Given the description of an element on the screen output the (x, y) to click on. 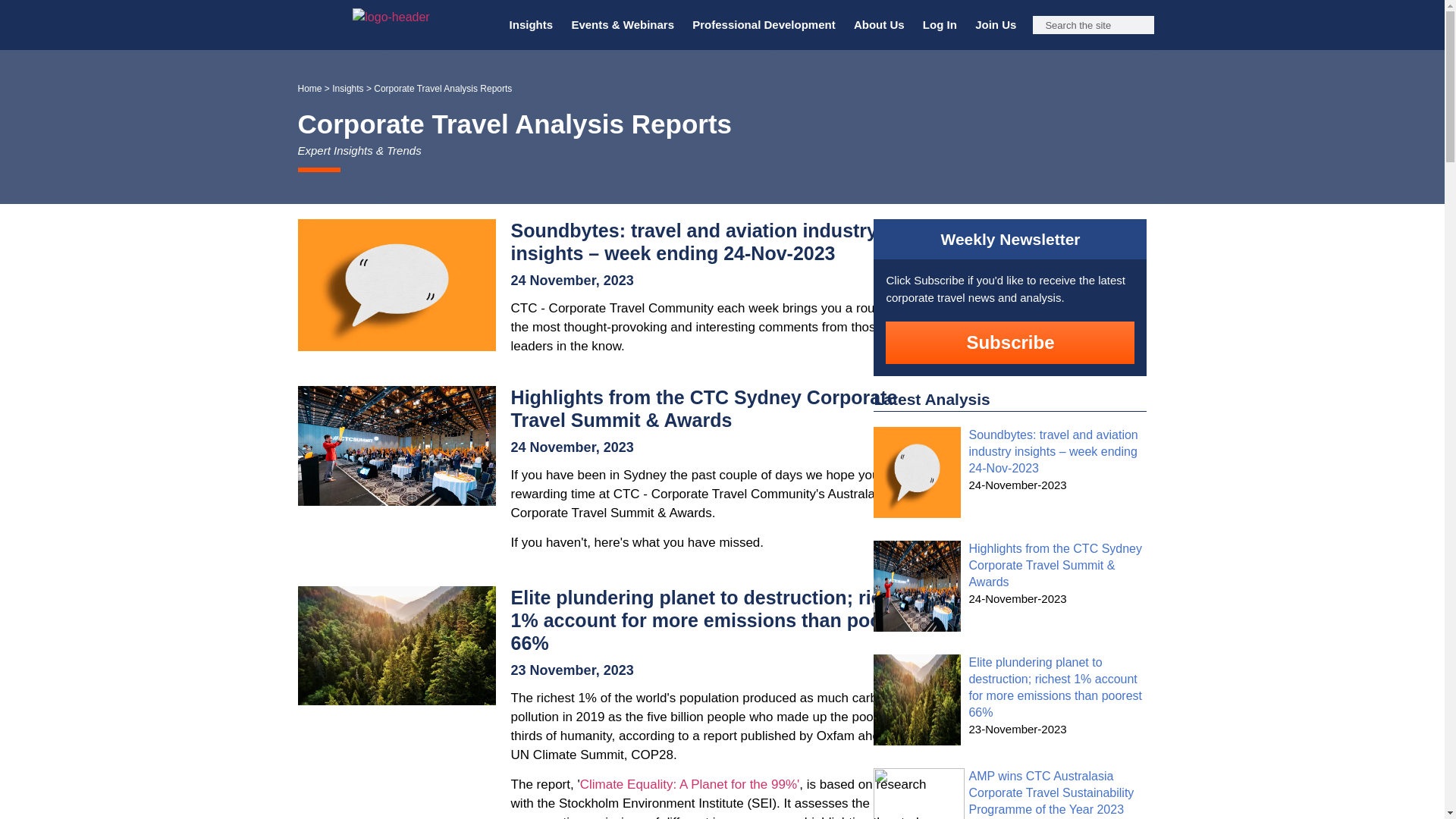
Professional Development (763, 24)
Join Us (995, 24)
Log In (940, 24)
Insights (530, 24)
About Us (879, 24)
logo-header (390, 17)
